Given the description of an element on the screen output the (x, y) to click on. 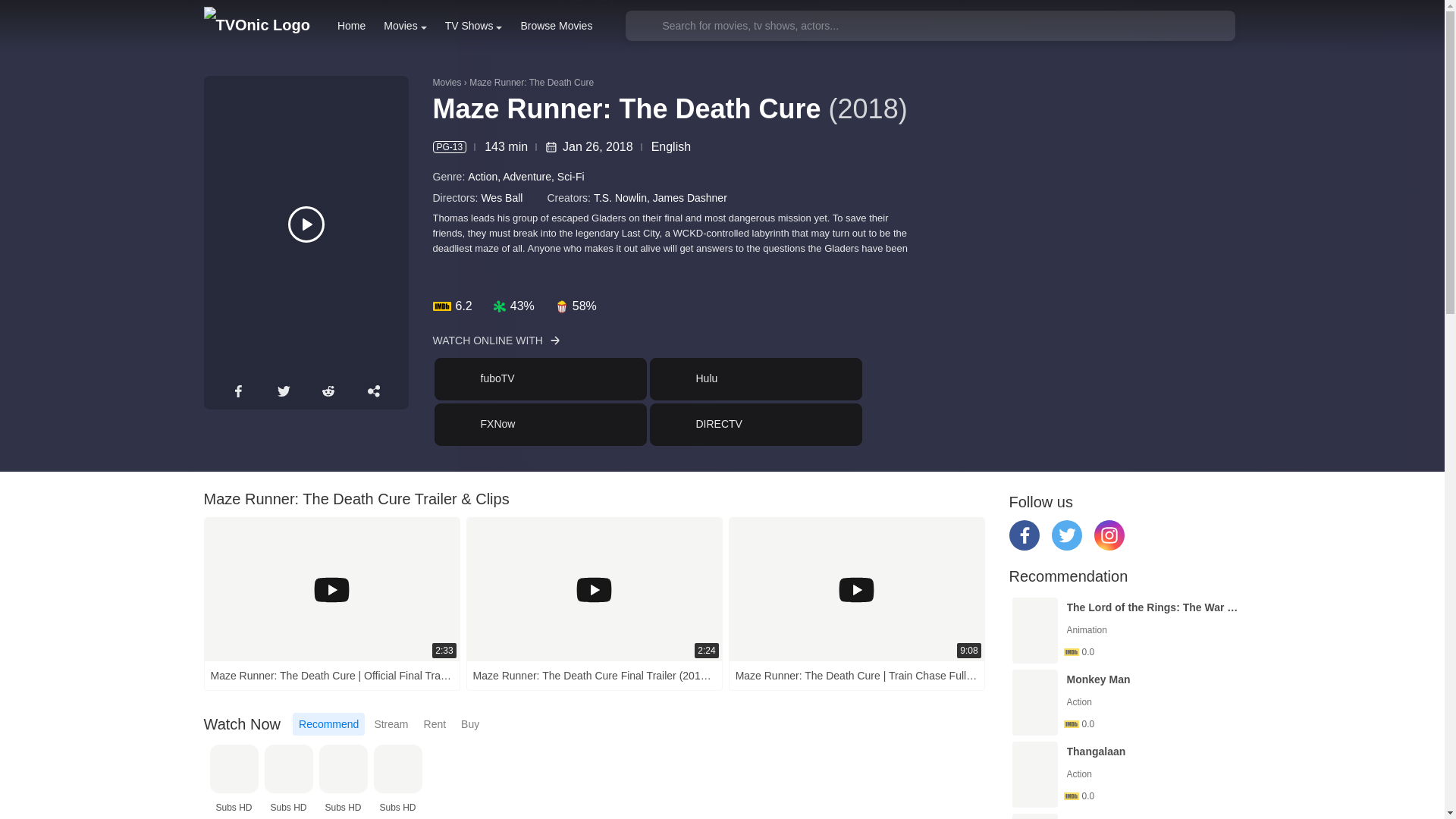
TV Shows (473, 25)
Home (647, 401)
Movies (351, 25)
Movies (405, 25)
TVOnic (405, 25)
